Given the description of an element on the screen output the (x, y) to click on. 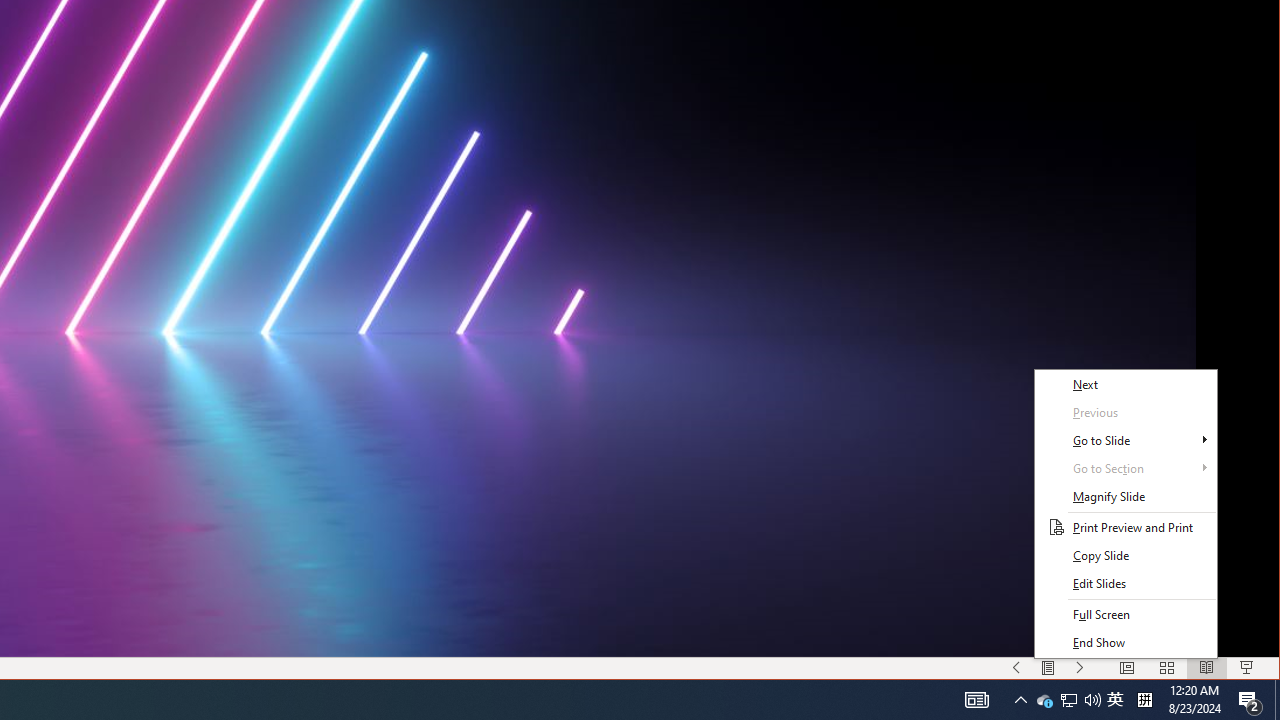
AutomationID: 4105 (976, 699)
Tray Input Indicator - Chinese (Simplified, China) (1144, 699)
Go to Section (1125, 469)
Notification Chevron (1020, 699)
End Show (1125, 642)
Q2790: 100% (1092, 699)
Magnify Slide (1125, 497)
Action Center, 2 new notifications (1044, 699)
